Given the description of an element on the screen output the (x, y) to click on. 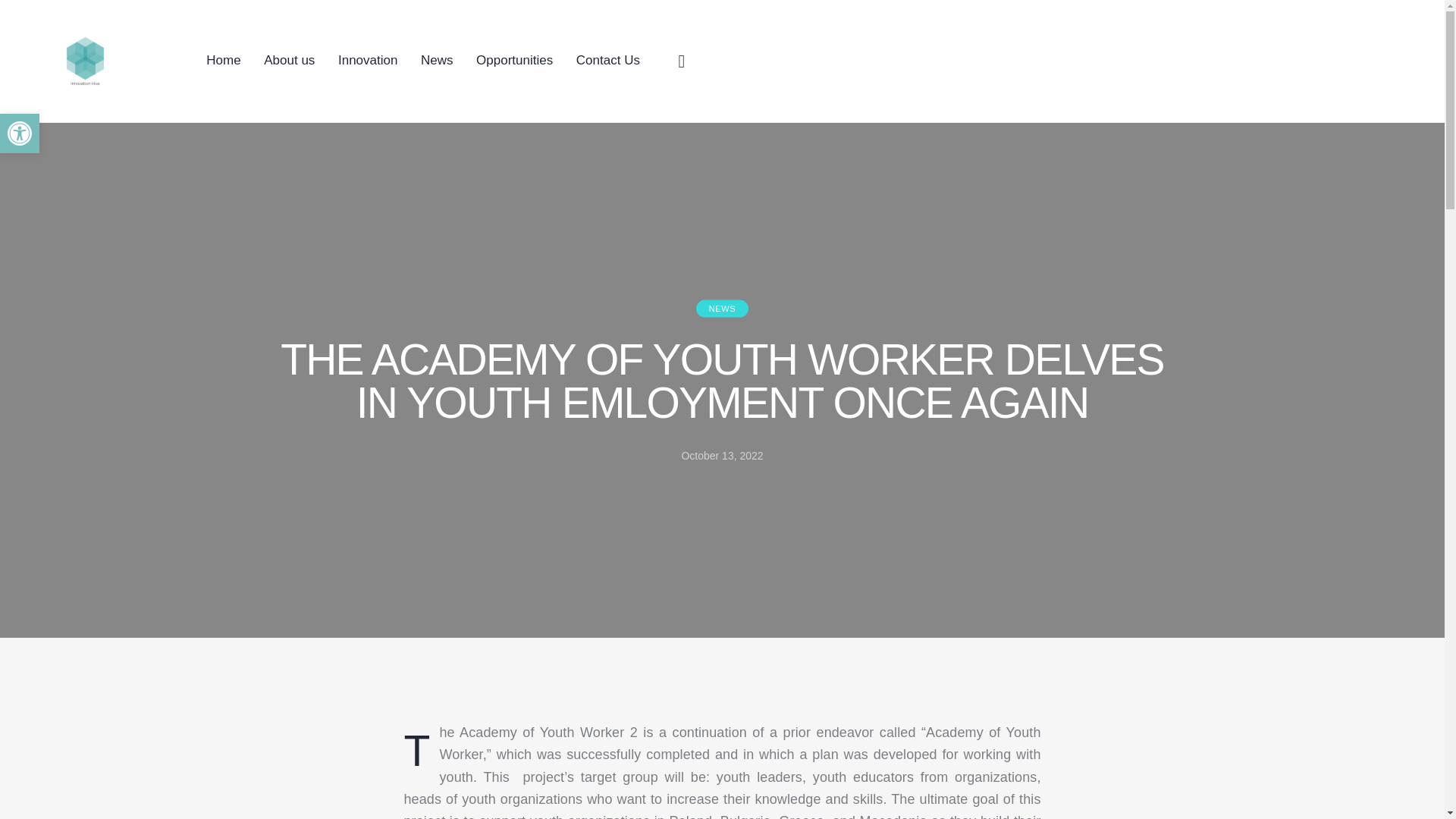
Innovation (367, 60)
About us (288, 60)
Contact Us (608, 60)
